Given the description of an element on the screen output the (x, y) to click on. 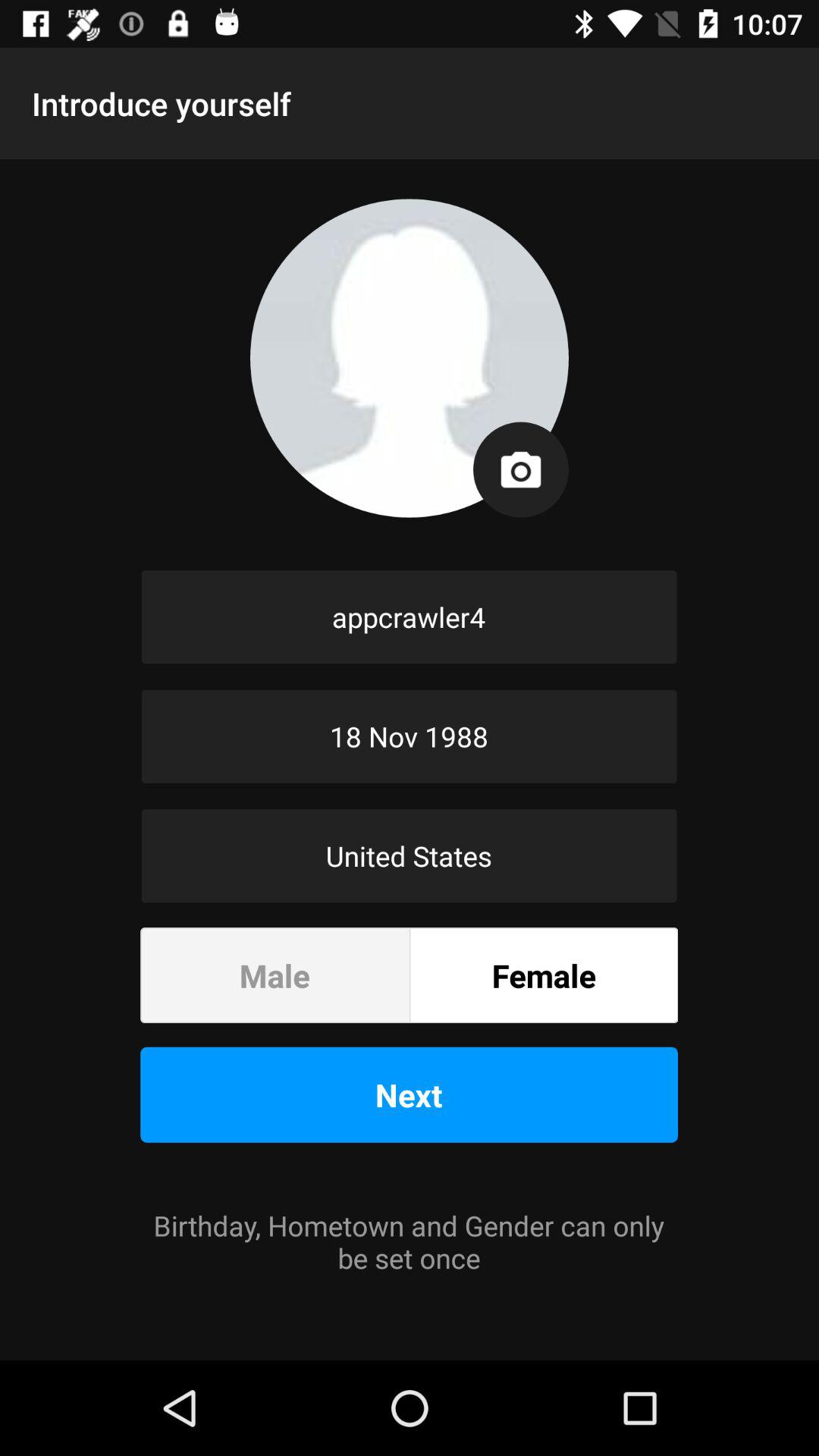
tap icon next to the female (274, 975)
